Given the description of an element on the screen output the (x, y) to click on. 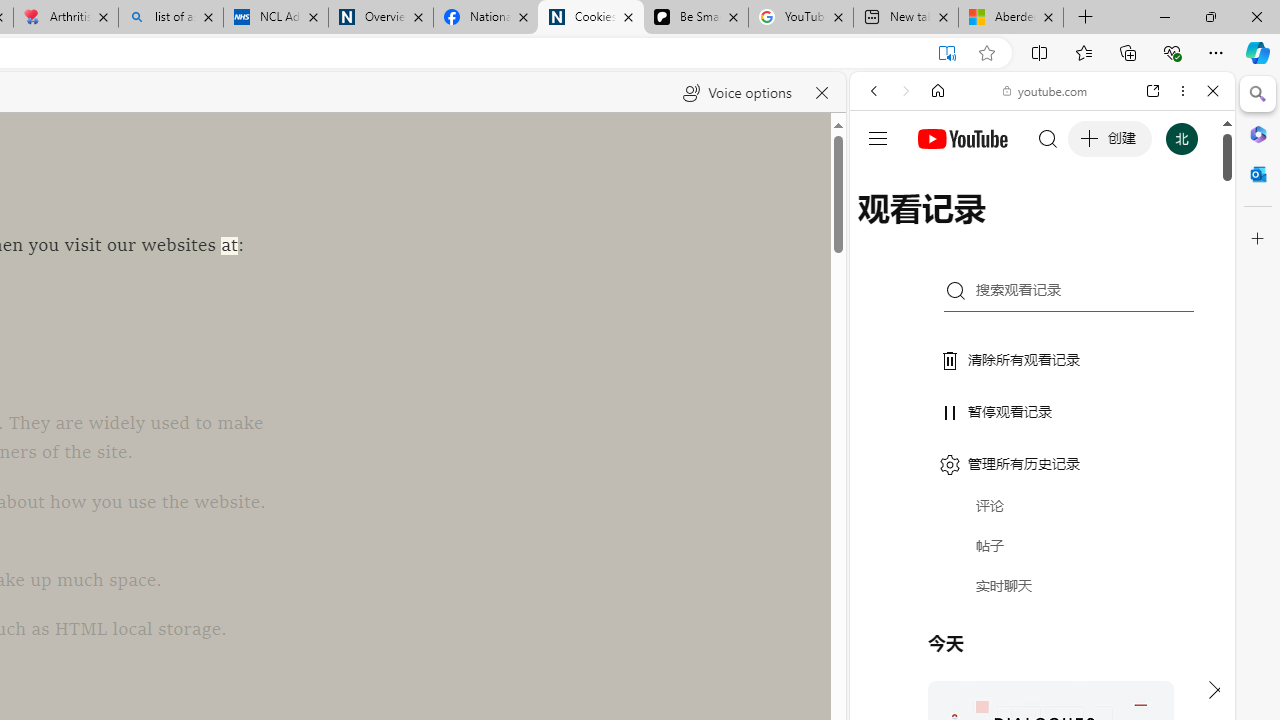
Exit Immersive Reader (F9) (946, 53)
Close read aloud (821, 92)
NCL Adult Asthma Inhaler Choice Guideline (275, 17)
Voice options (737, 92)
